Given the description of an element on the screen output the (x, y) to click on. 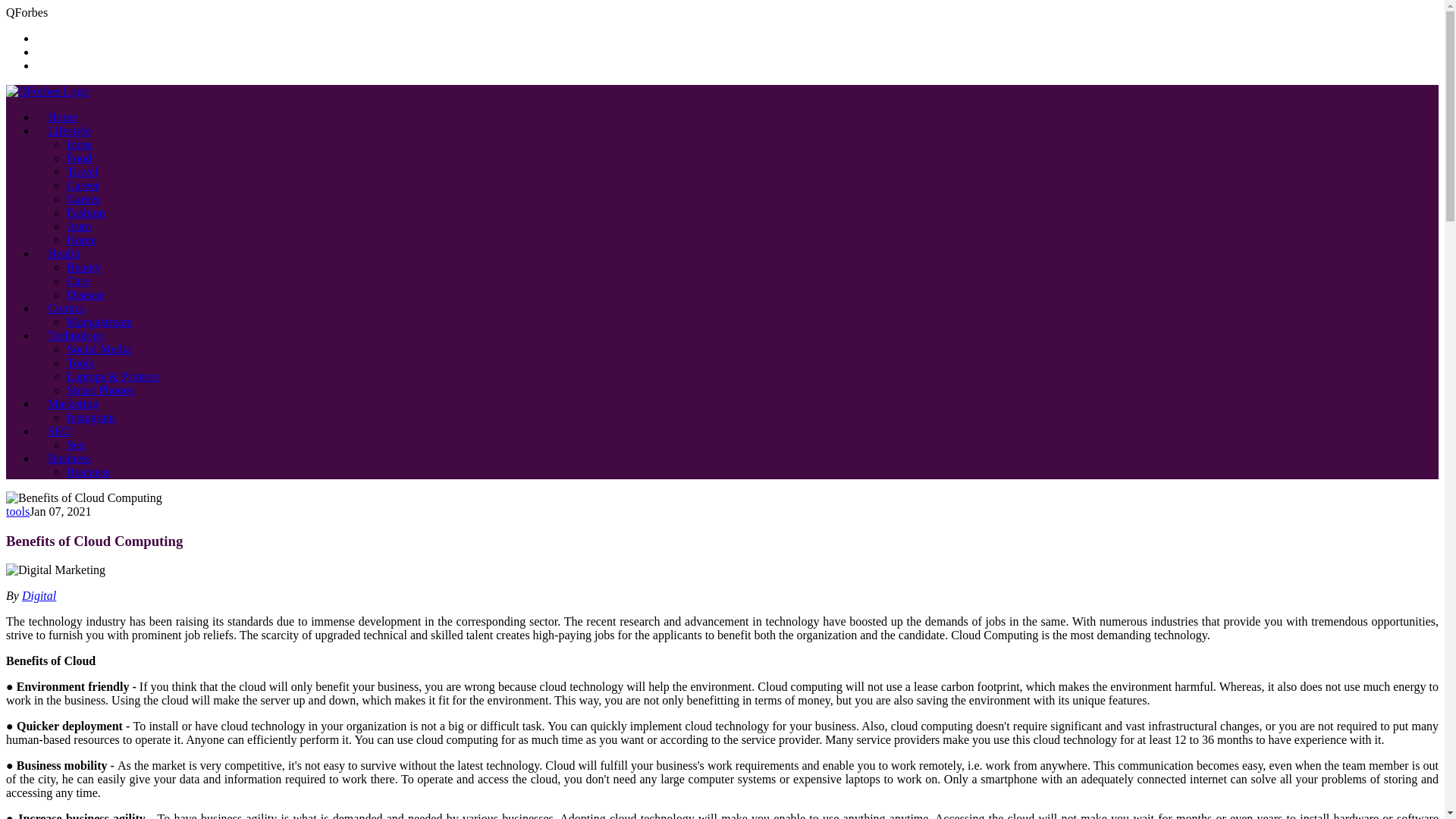
Digital Marketing (54, 570)
Fashion (85, 212)
Disease (85, 294)
Instagram (90, 417)
Ideas (79, 144)
SEO (58, 430)
Career (82, 185)
Marketing (73, 403)
Social Media (98, 349)
QForbes Logo (46, 91)
Benefits of Cloud Computing (83, 498)
Home (81, 239)
Care (77, 280)
Home (62, 116)
Digital (38, 594)
